Given the description of an element on the screen output the (x, y) to click on. 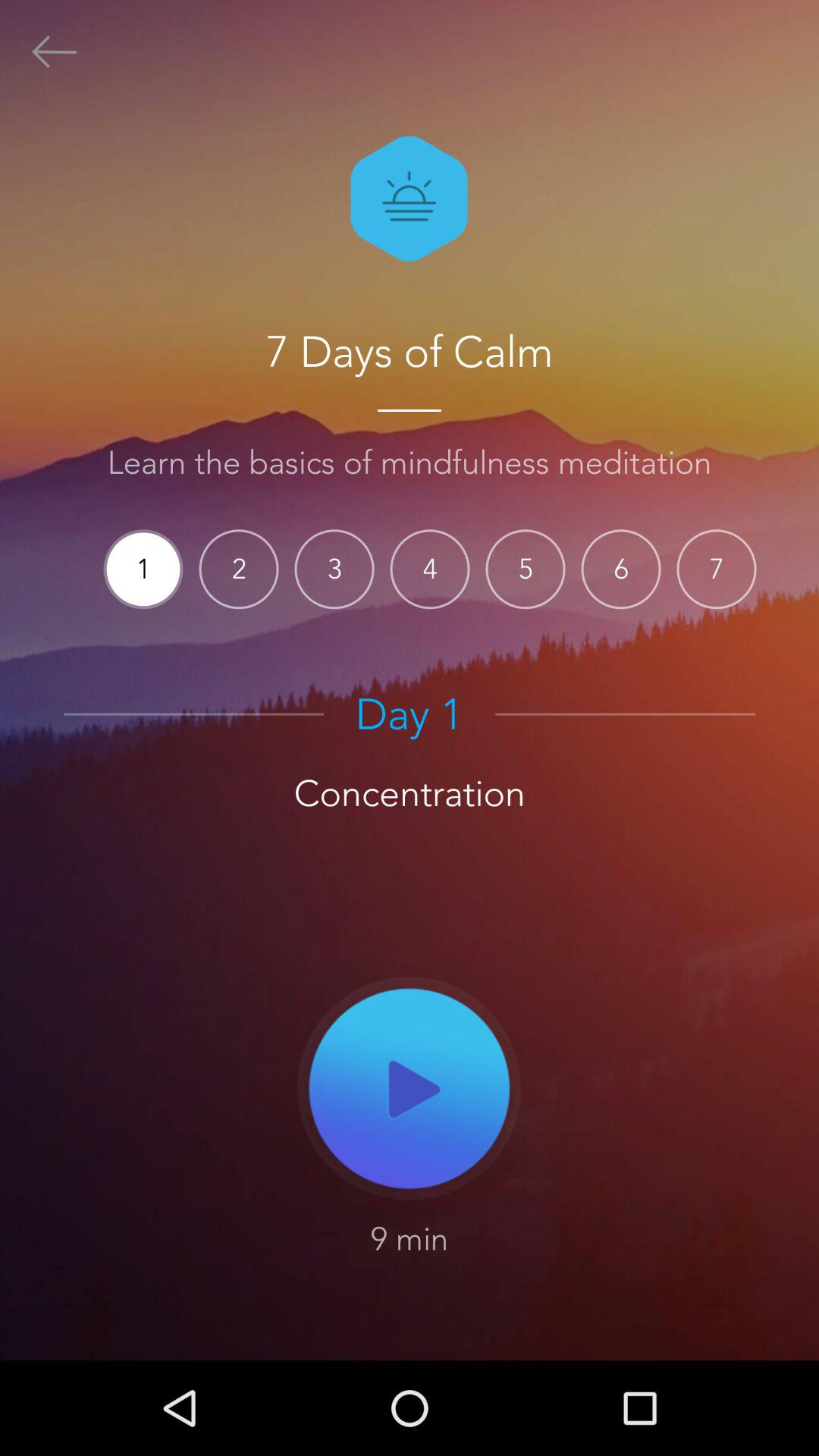
play (409, 1087)
